Given the description of an element on the screen output the (x, y) to click on. 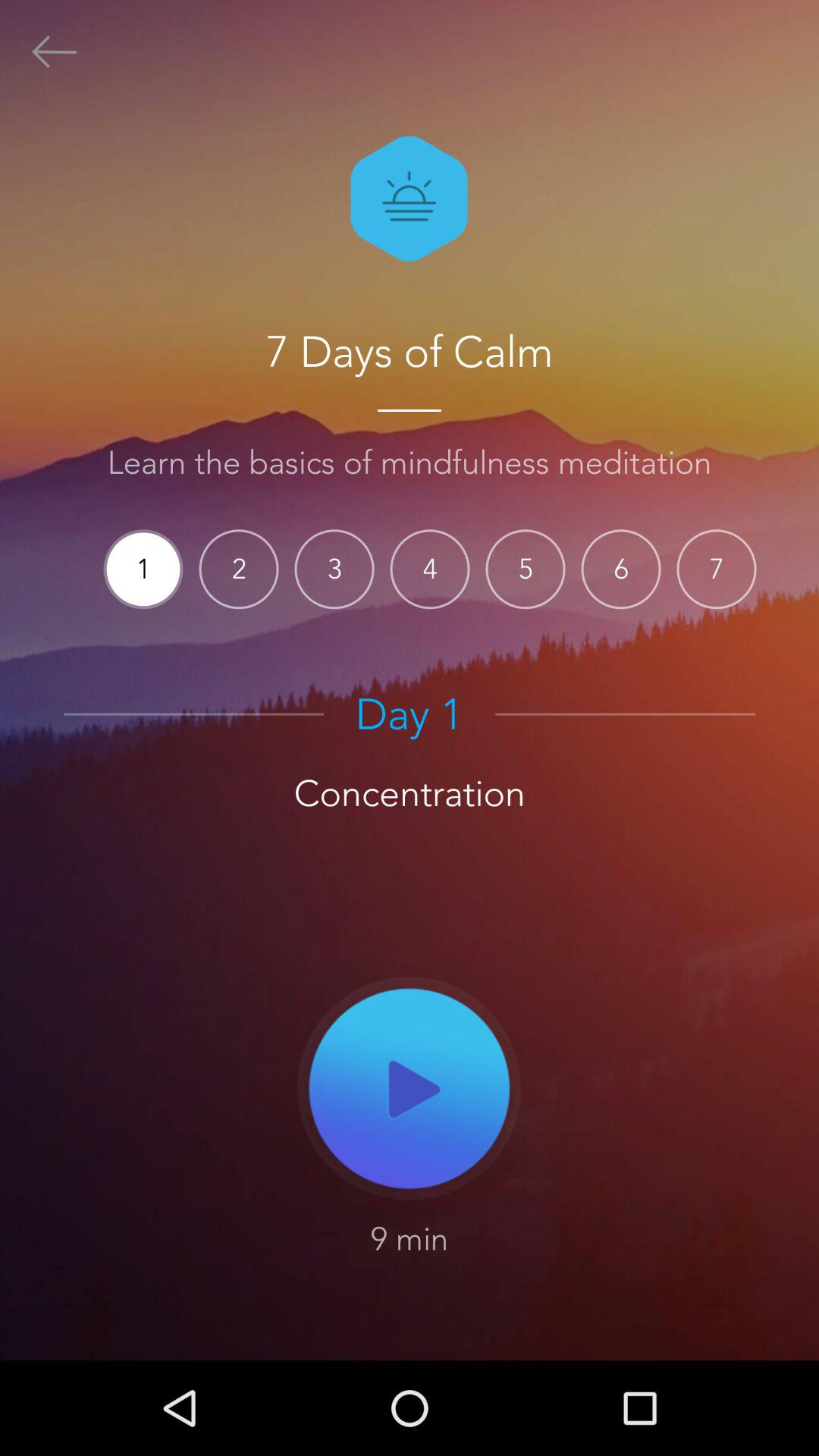
play (409, 1087)
